Given the description of an element on the screen output the (x, y) to click on. 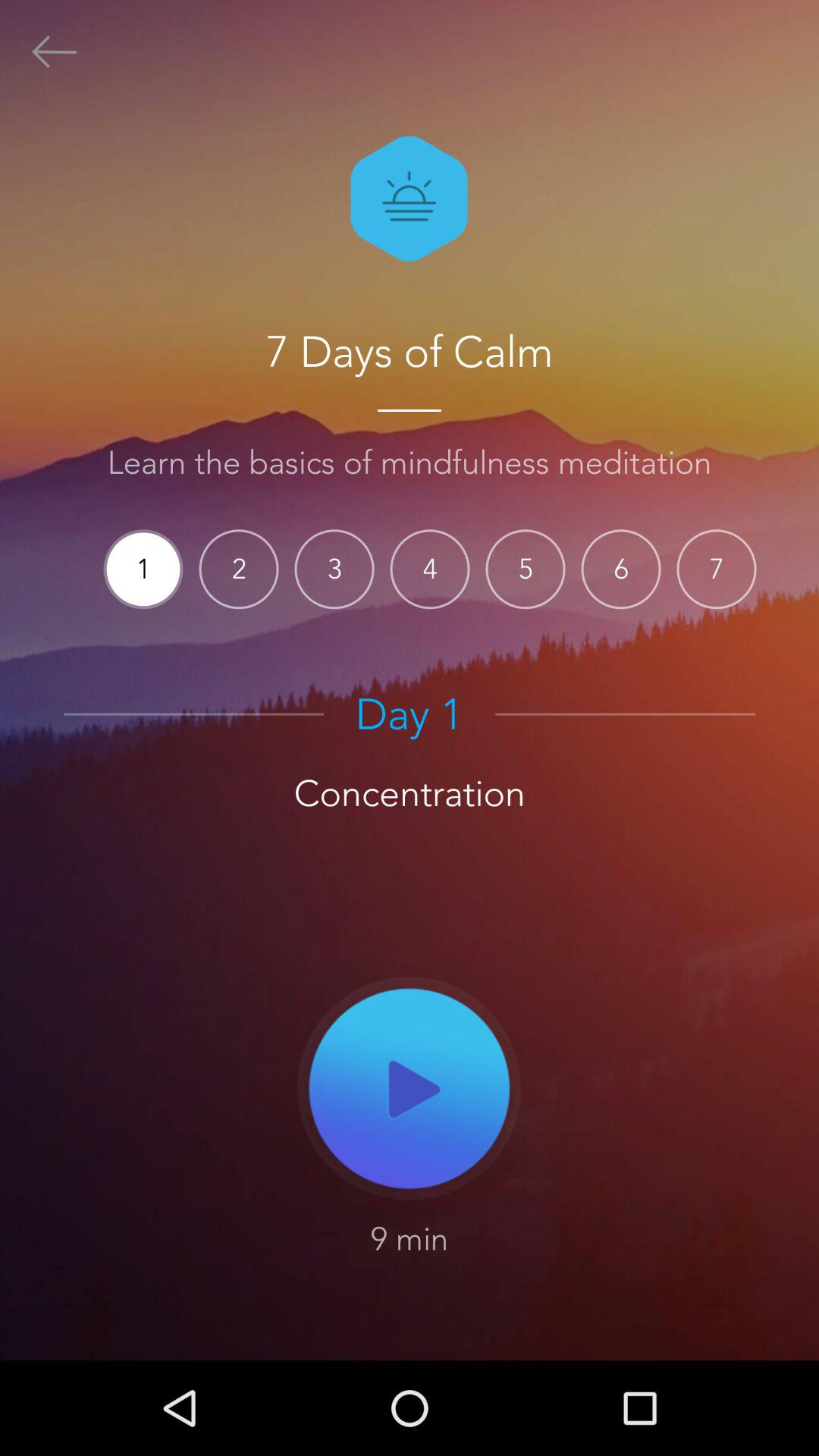
play (409, 1087)
